Given the description of an element on the screen output the (x, y) to click on. 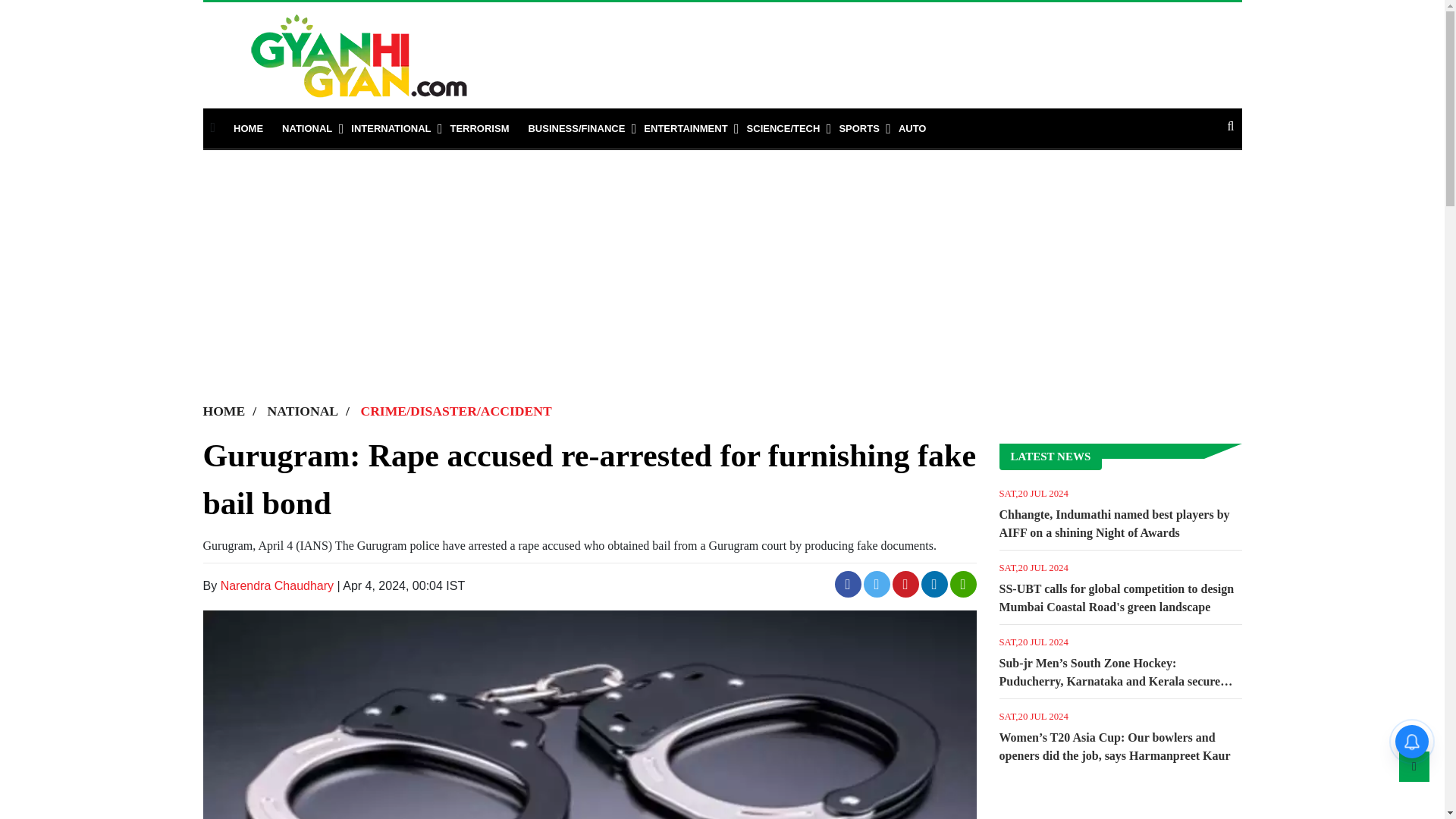
3rd party ad content (176, 752)
HOME (247, 128)
AUTO (912, 128)
3rd party ad content (722, 164)
ENTERTAINMENT (684, 128)
NATIONAL (306, 128)
Advertisement (838, 47)
SPORTS (858, 128)
INTERNATIONAL (390, 128)
Advertisement (1120, 801)
TERRORISM (478, 128)
